Given the description of an element on the screen output the (x, y) to click on. 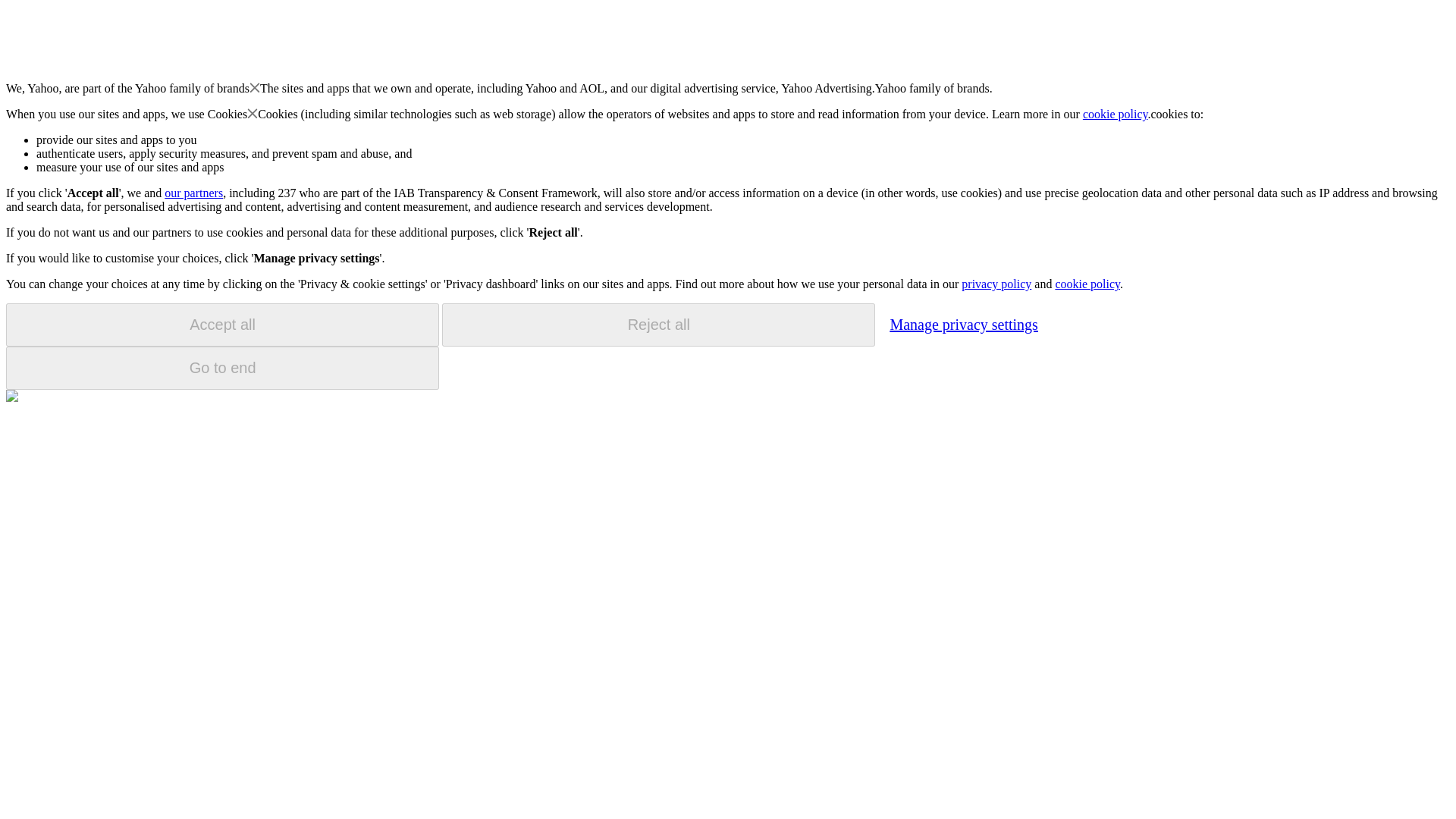
privacy policy (995, 283)
Go to end (222, 367)
our partners (193, 192)
cookie policy (1115, 113)
Manage privacy settings (963, 323)
Reject all (658, 324)
Accept all (222, 324)
cookie policy (1086, 283)
